Given the description of an element on the screen output the (x, y) to click on. 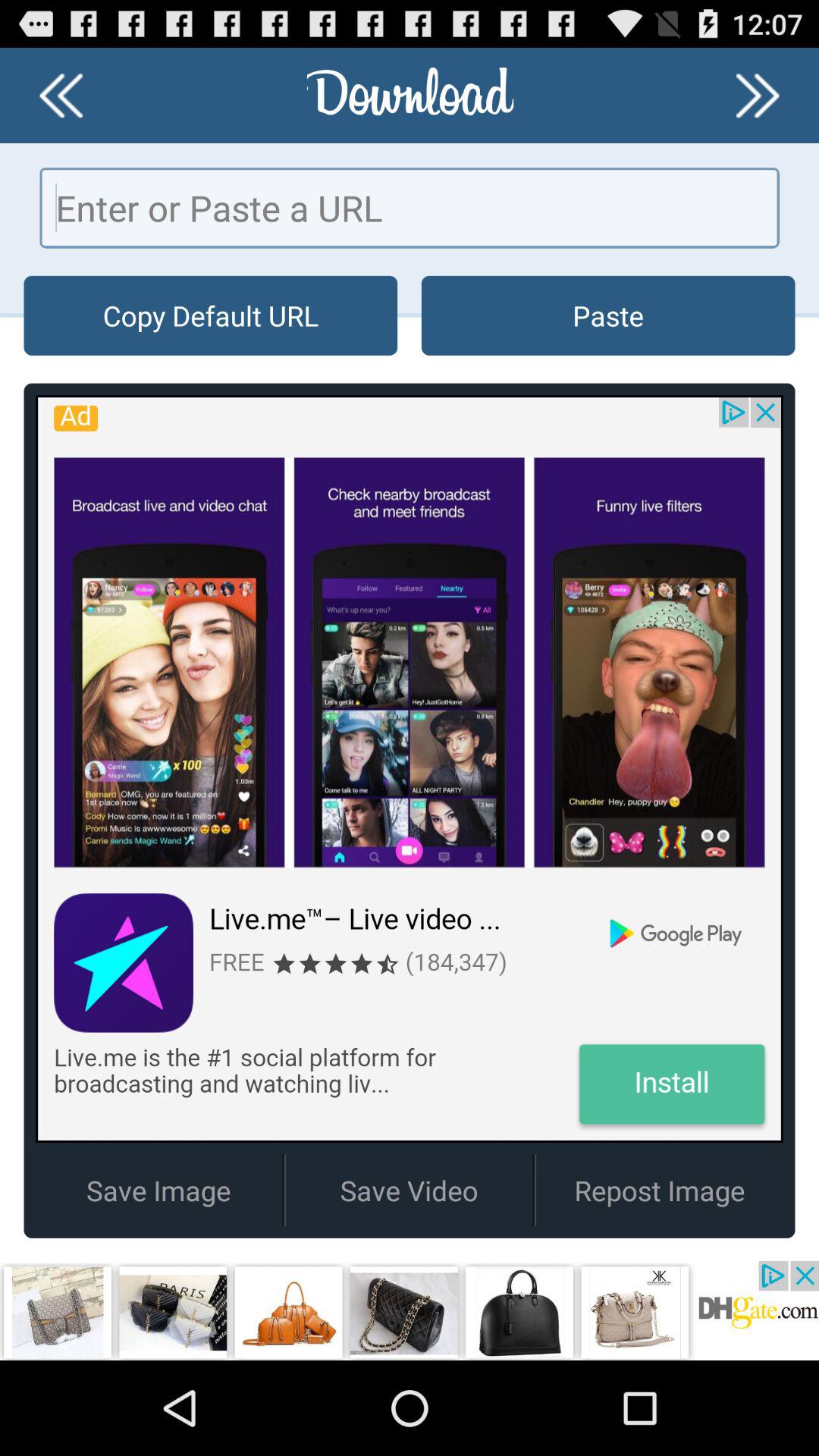
fair ward (61, 95)
